Given the description of an element on the screen output the (x, y) to click on. 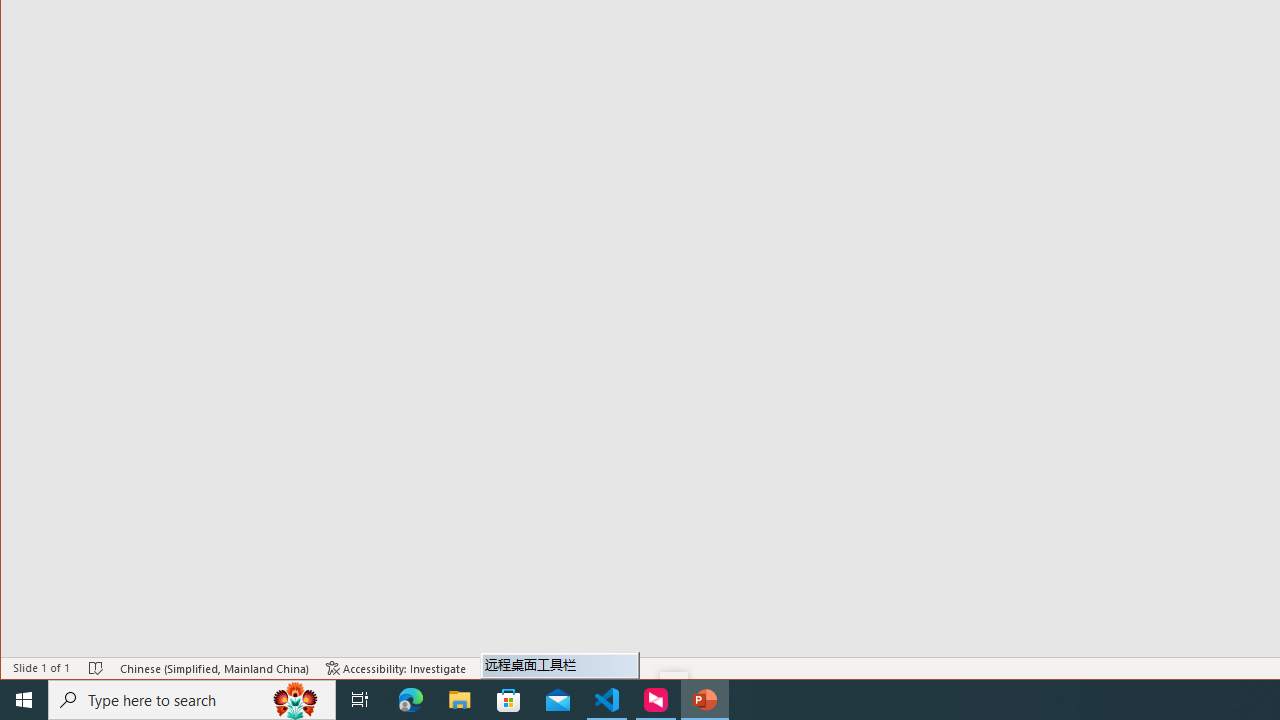
Microsoft Edge (411, 699)
